Given the description of an element on the screen output the (x, y) to click on. 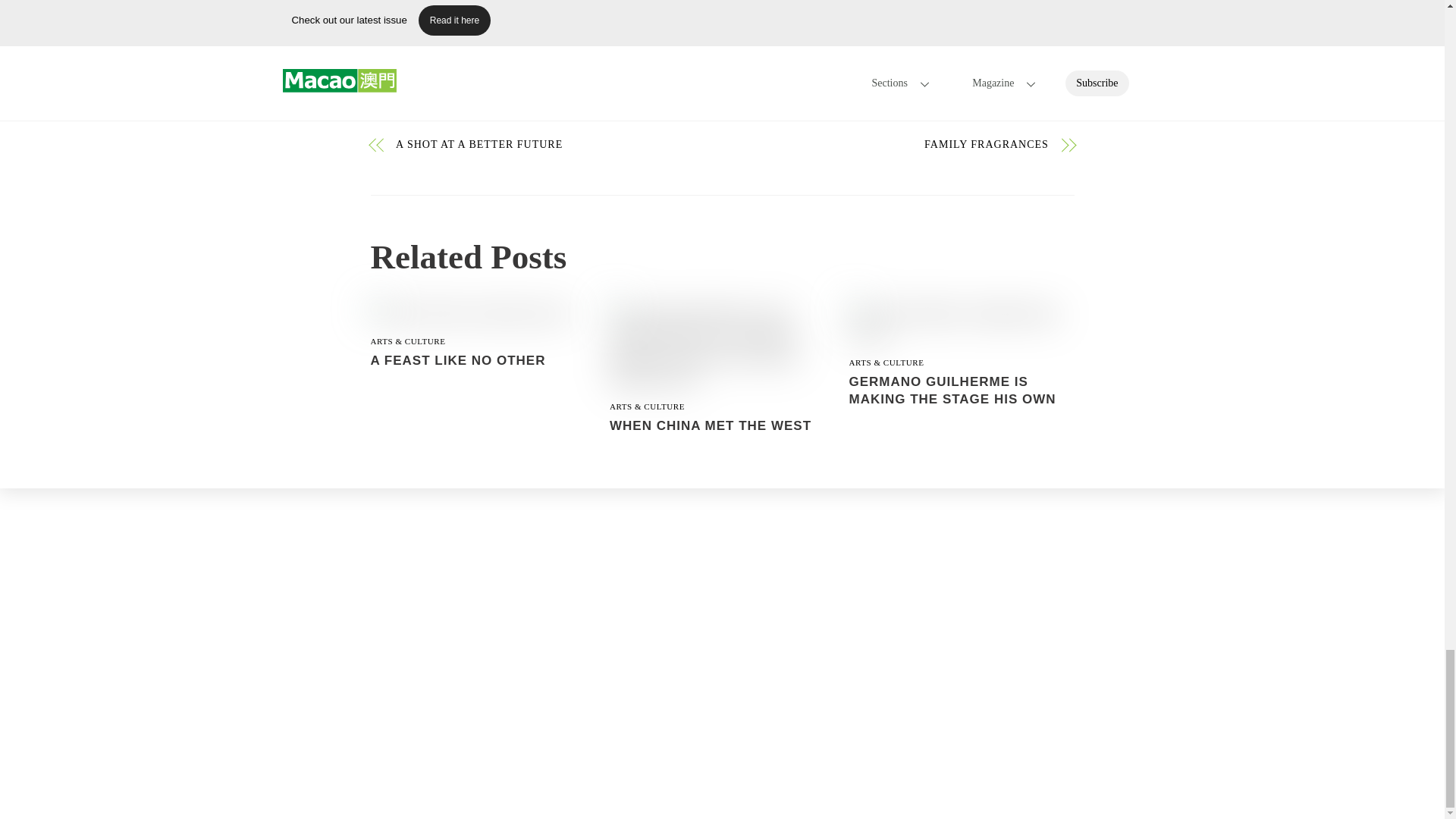
A FEAST LIKE NO OTHER (456, 359)
Feast of Na Tcha: A feast like no other (469, 314)
Germano Guilherme is making the stage his own (961, 325)
A SHOT AT A BETTER FUTURE (548, 144)
FAMILY FRAGRANCES (895, 144)
